Given the description of an element on the screen output the (x, y) to click on. 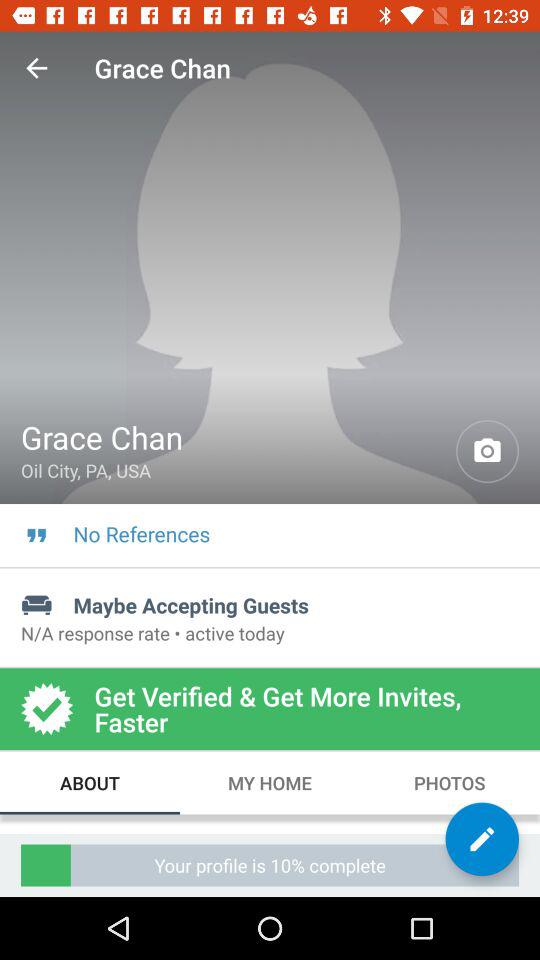
edit option (482, 839)
